Given the description of an element on the screen output the (x, y) to click on. 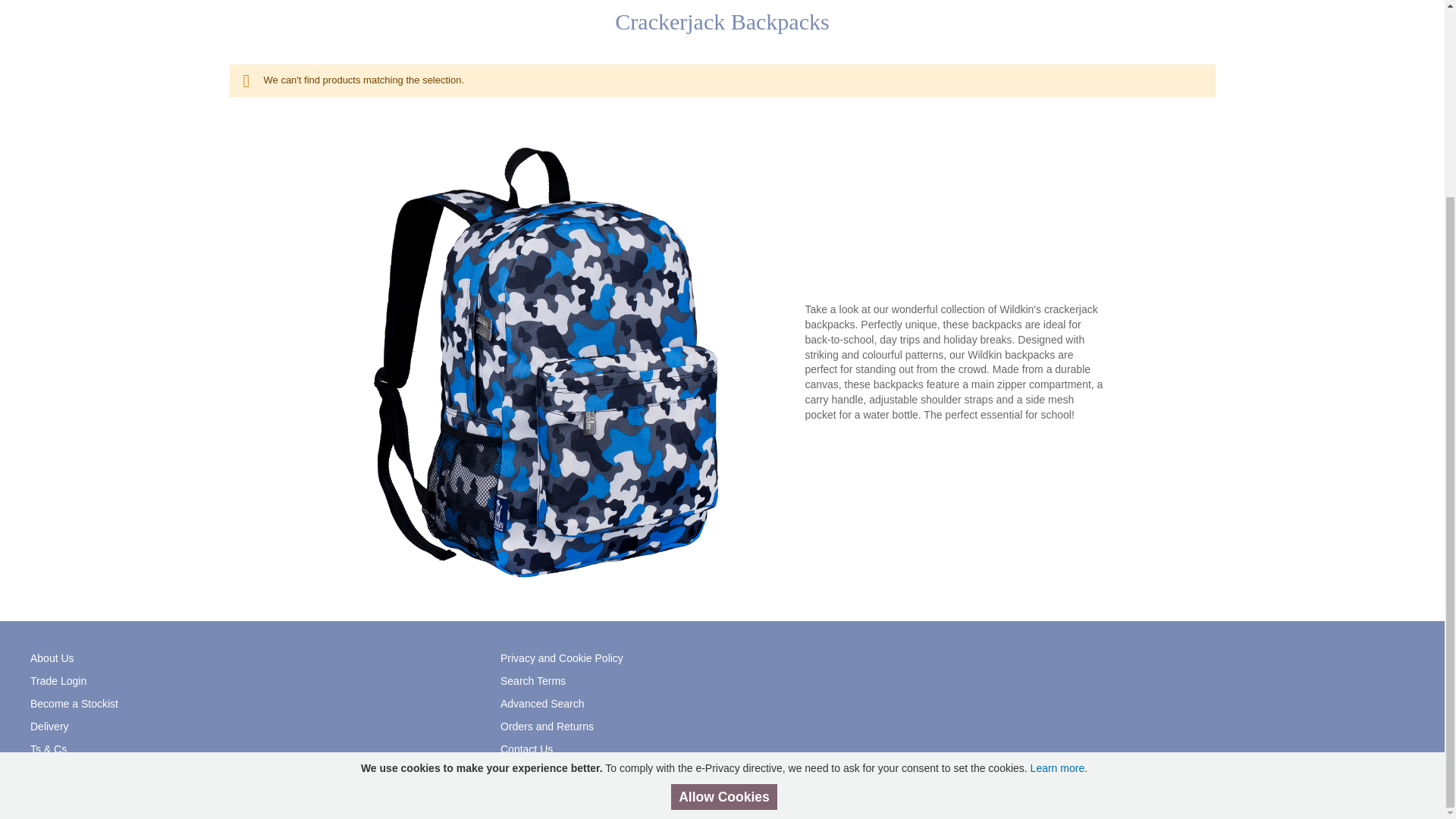
Allow Cookies (724, 548)
Learn more (1057, 519)
